Given the description of an element on the screen output the (x, y) to click on. 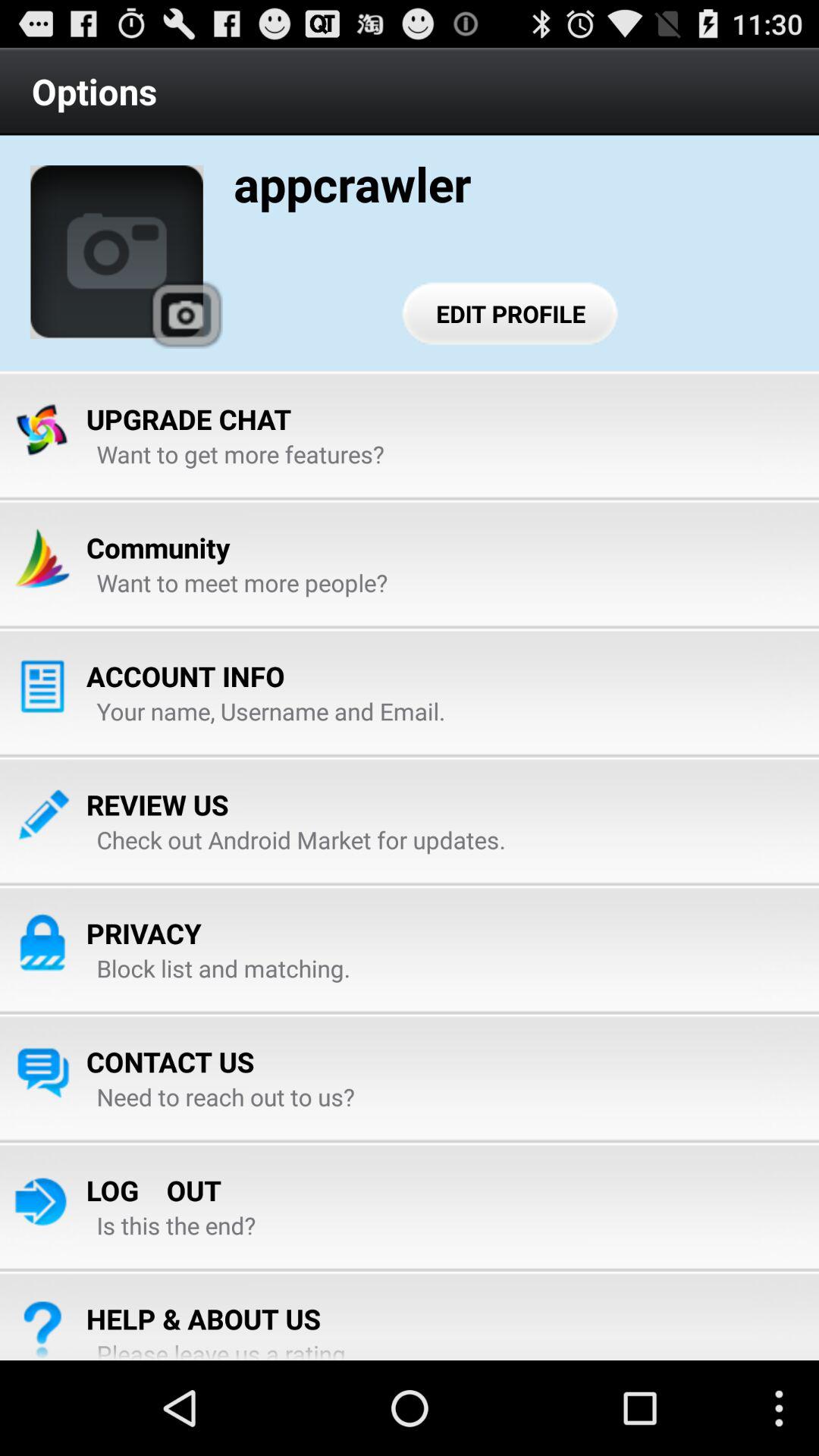
launch need to reach app (225, 1096)
